Given the description of an element on the screen output the (x, y) to click on. 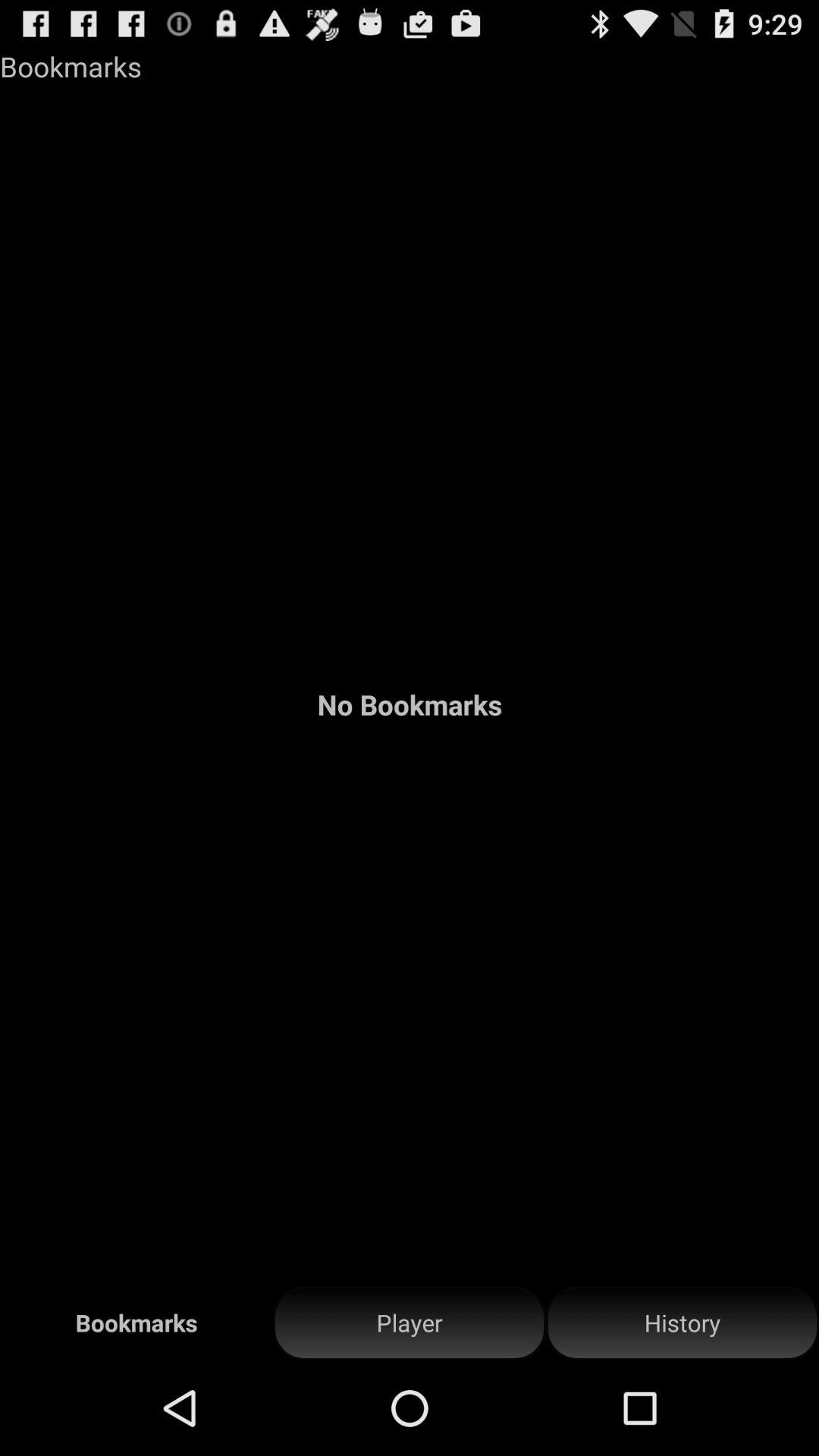
click the player at the bottom (409, 1323)
